Given the description of an element on the screen output the (x, y) to click on. 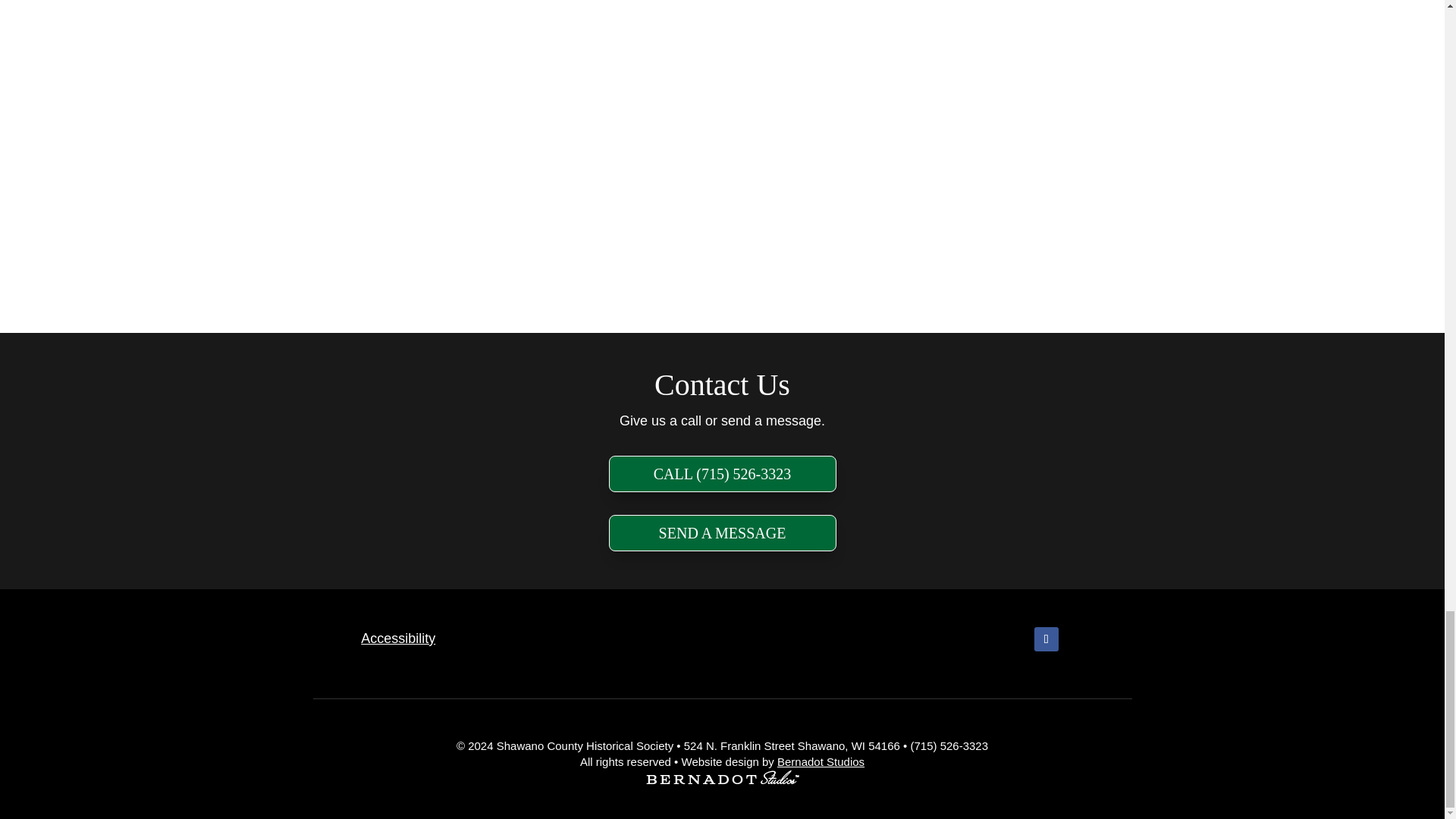
Follow on Facebook (1045, 639)
Follow (1045, 639)
SEND A MESSAGE (721, 533)
Bernadot Studios (820, 761)
Accessibility (398, 638)
